Given the description of an element on the screen output the (x, y) to click on. 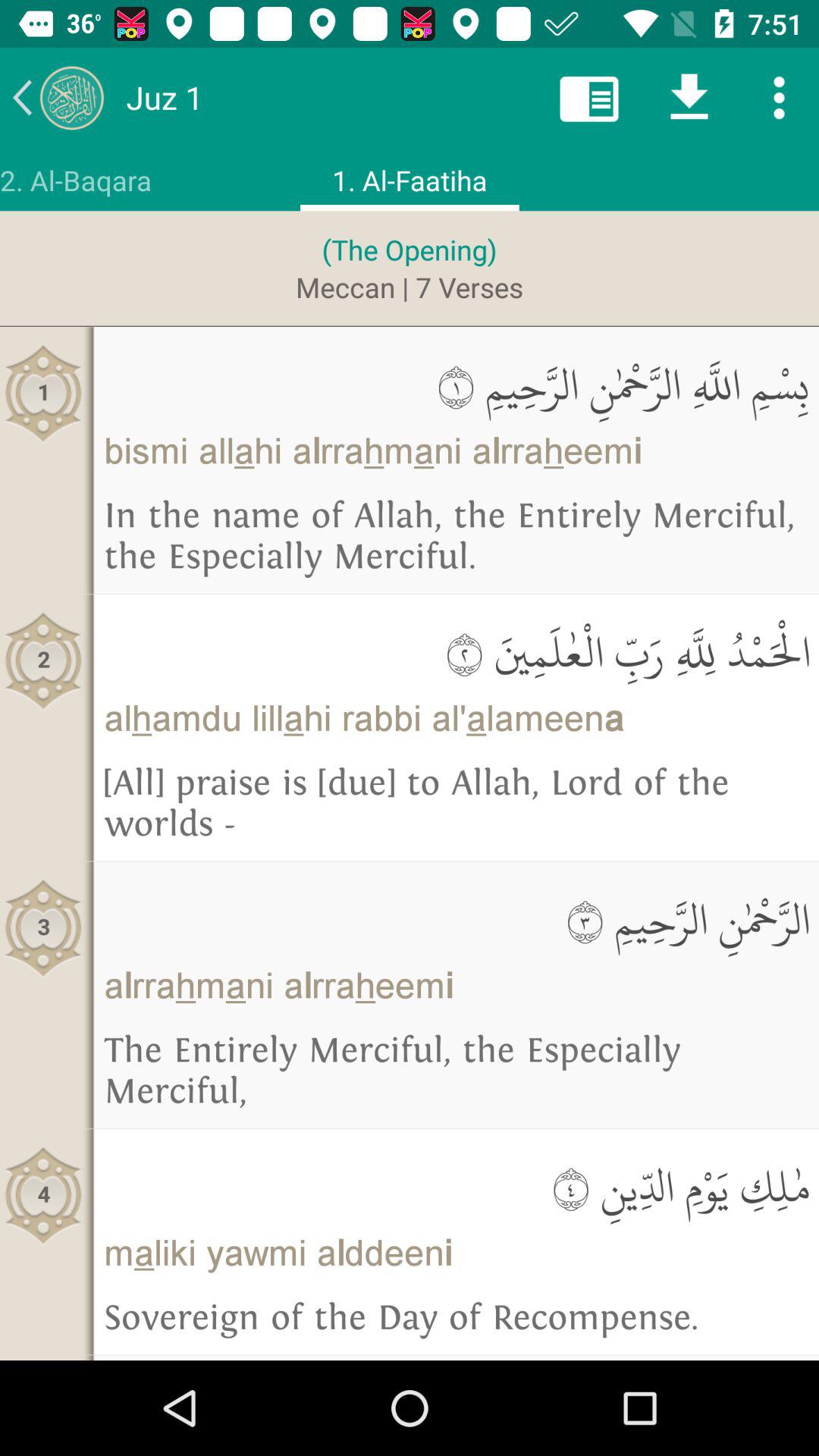
turn off meccan | 7 verses (409, 286)
